Given the description of an element on the screen output the (x, y) to click on. 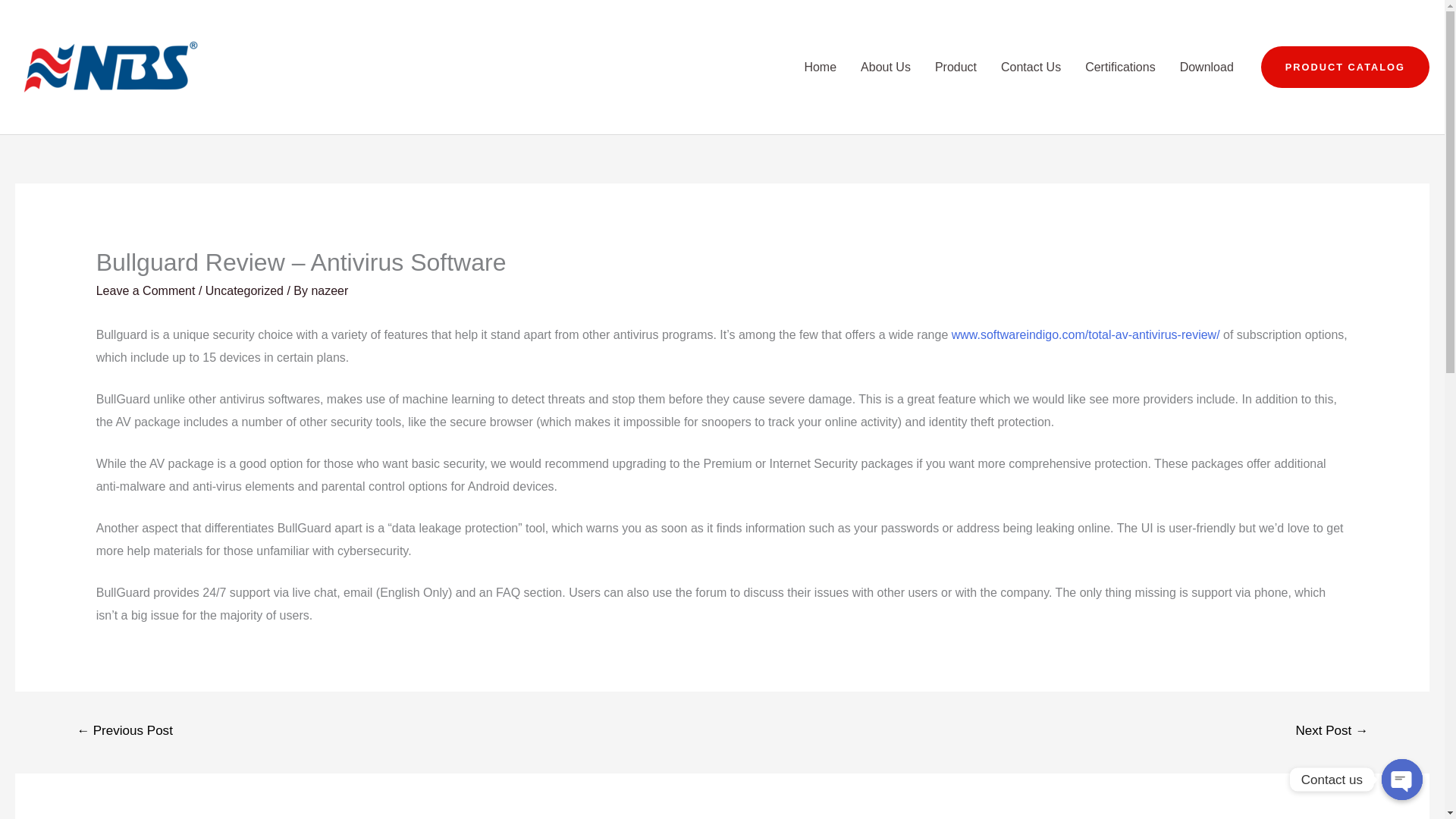
Certifications (1120, 67)
Uncategorized (244, 290)
View all posts by nazeer (329, 290)
Download (1206, 67)
Contact Us (1030, 67)
Home (820, 67)
nazeer (329, 290)
Product (955, 67)
Leave a Comment (145, 290)
PRODUCT CATALOG (1344, 66)
About Us (885, 67)
